Given the description of an element on the screen output the (x, y) to click on. 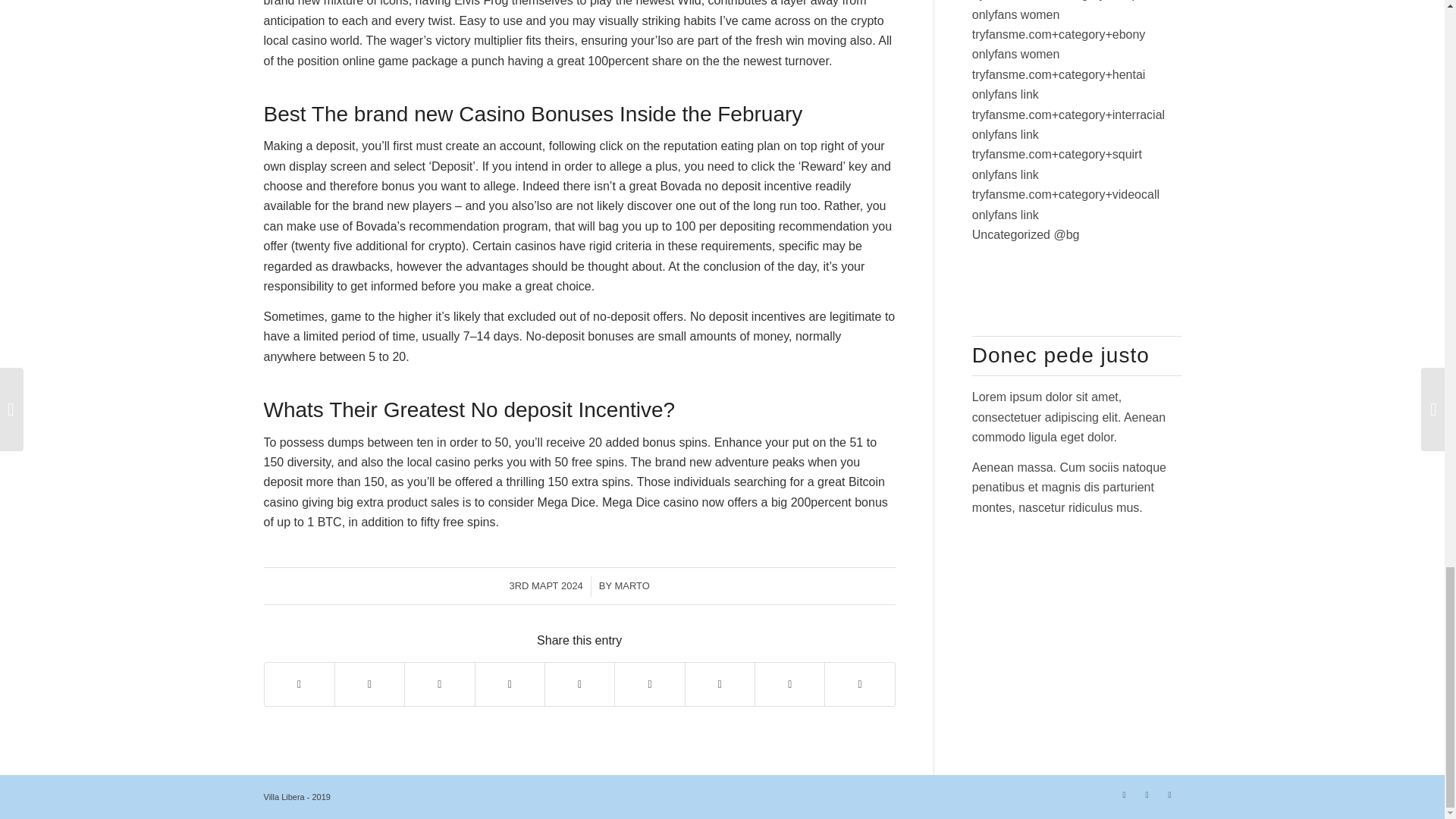
Facebook (1146, 793)
Twitter (1124, 793)
Skype (1169, 793)
MARTO (631, 585)
